Given the description of an element on the screen output the (x, y) to click on. 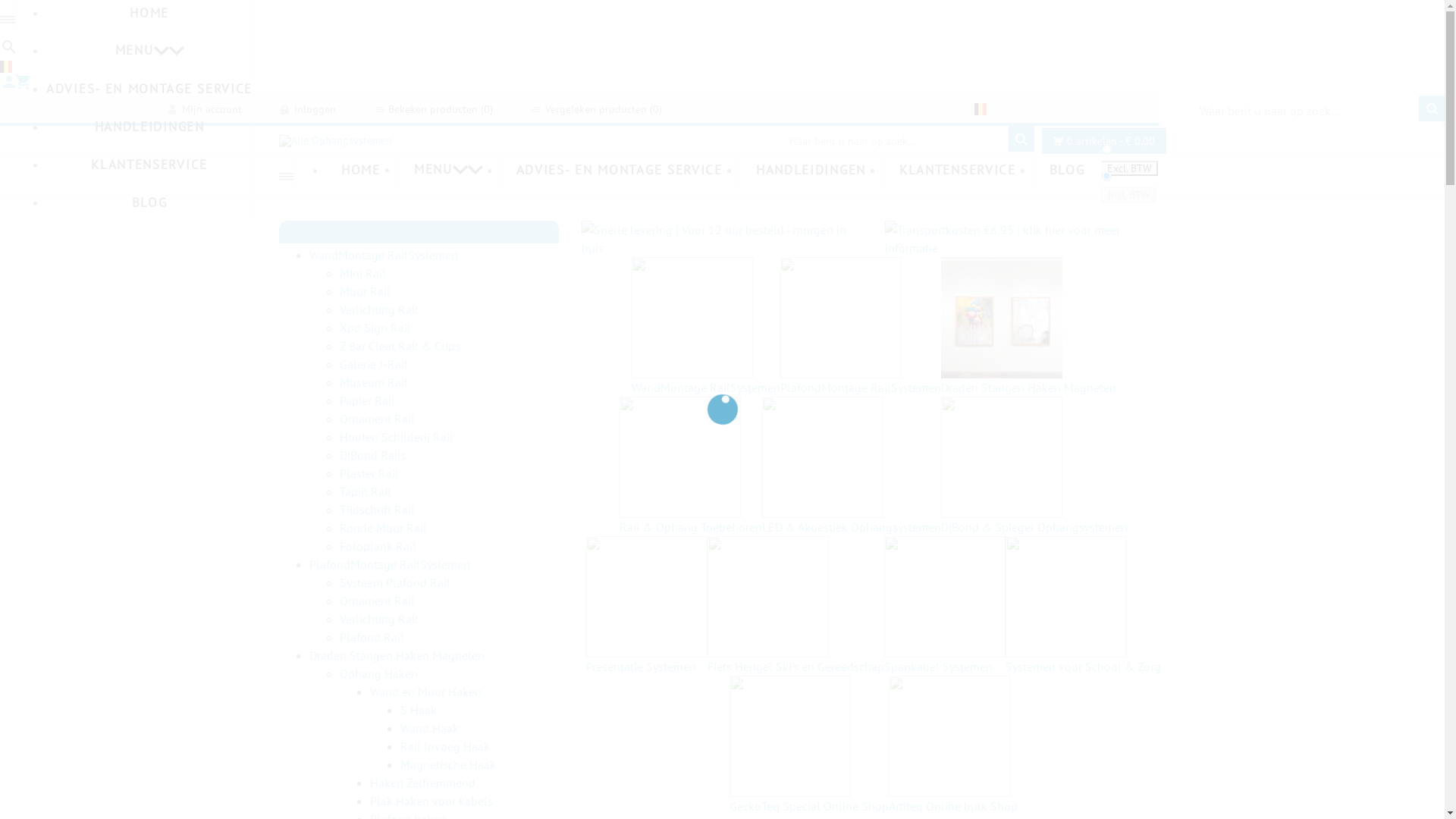
Rail & Ophang Toebehoren Element type: text (690, 466)
Plafond Rail Element type: text (371, 636)
Rail Invoeg Haak Element type: text (444, 745)
shopping_cart Element type: text (19, 86)
Mijn account Element type: text (204, 108)
LED & Akoestiek Ophangsystemen Element type: text (851, 466)
Galerie J-Rail Element type: text (373, 363)
Systemen voor School & Zorg Element type: text (1083, 605)
Ornament Rail Element type: text (376, 600)
DiBond & Spiegel Ophangsystemen Element type: text (1034, 466)
HANDLEIDINGEN Element type: text (149, 126)
person Element type: text (7, 86)
BLOG Element type: text (1066, 169)
Wand en Muur Haken Element type: text (425, 691)
MENU Element type: text (149, 50)
Muur Rail Element type: text (364, 290)
HANDLEIDINGEN Element type: text (810, 169)
Papier Rail Element type: text (367, 399)
Draden Stangen Haken Magneten Element type: text (1028, 326)
Xpo Sign Rail Element type: text (375, 327)
Z Bar Cleat Rail & Clips Element type: text (399, 345)
ADVIES- EN MONTAGE SERVICE Element type: text (618, 169)
GeckoTeq Special Online Shop Element type: text (808, 745)
HOME Element type: text (360, 169)
Ornament Rail Element type: text (376, 418)
Ronde Muur Rail Element type: text (382, 527)
Fiets Hengel Ski's en Gereedschap Element type: text (795, 605)
S Haak Element type: text (418, 709)
WandMontage RailSystemen Element type: text (705, 326)
KLANTENSERVICE Element type: text (149, 164)
ADVIES- EN MONTAGE SERVICE Element type: text (149, 88)
Plaster Rail Element type: text (368, 472)
Tijdschrift Rail Element type: text (376, 509)
Inloggen Element type: text (307, 108)
MENU Element type: text (447, 169)
Museum Rail Element type: text (373, 381)
Alle Ophangsystemen Element type: hover (335, 140)
KLANTENSERVICE Element type: text (957, 169)
Wand Haak Element type: text (429, 727)
Artiteq Online bulk Shop Element type: text (952, 745)
Tapijt Rail Element type: text (365, 490)
Verlichting Rail Element type: text (378, 308)
Incl. BTW Element type: text (1128, 194)
Systeem Plafond Rail Element type: text (394, 581)
Houten Schilderij Rail Element type: text (396, 436)
Verlichting Rail Element type: text (378, 618)
WandMontage RailSystemen Element type: text (383, 254)
Haken Zelfremmend Element type: text (422, 782)
Mini Rail Element type: text (362, 272)
Fotoplank Rail Element type: text (377, 545)
Bekeken producten (0) Element type: text (432, 108)
BLOG Element type: text (149, 202)
PlafondMontage RailSystemen Element type: text (860, 326)
Spankabel Systemen Element type: text (944, 605)
PlafondMontage RailSystemen Element type: text (389, 563)
Plak Haken voor kabels Element type: text (431, 800)
Vergeleken producten (0) Element type: text (596, 108)
Presentatie Systemen Element type: text (646, 605)
Draden Stangen Haken Magneten Element type: text (396, 654)
Excl. BTW Element type: text (1129, 167)
Ophang Haken Element type: text (378, 672)
DiBond Rails Element type: text (372, 454)
Magnetische Haak Element type: text (447, 763)
